Given the description of an element on the screen output the (x, y) to click on. 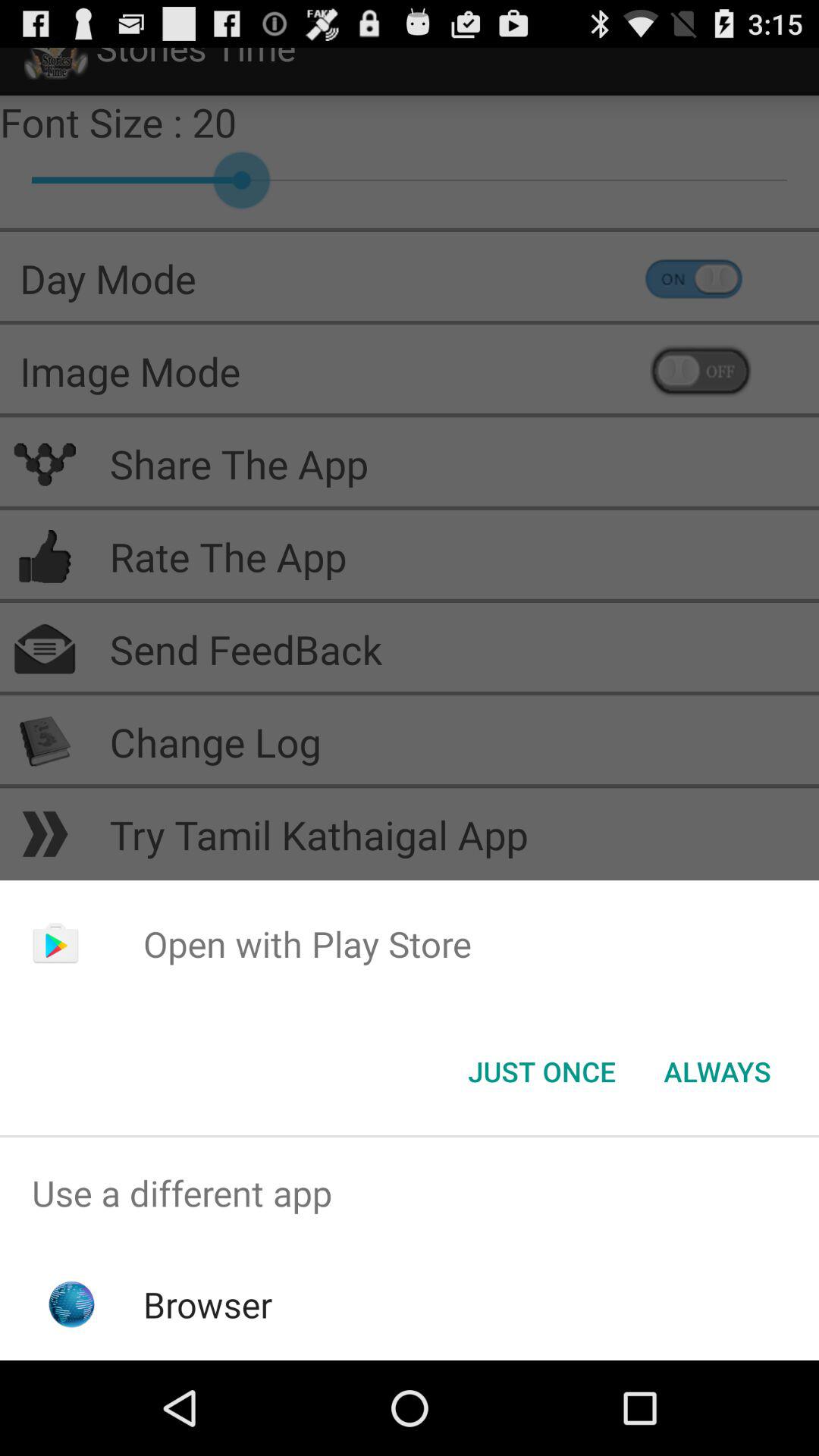
click the always icon (717, 1071)
